Given the description of an element on the screen output the (x, y) to click on. 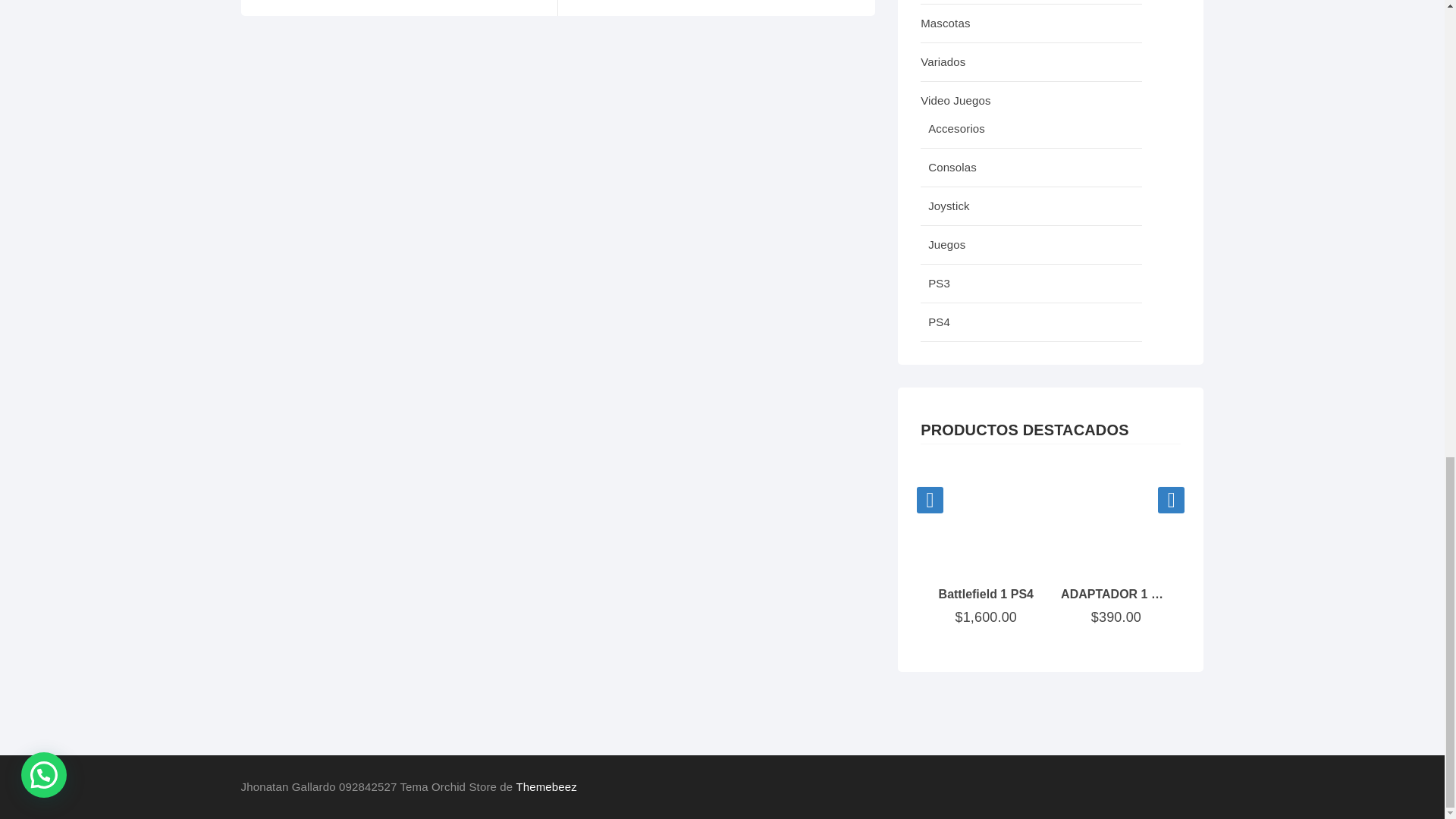
PS3 (1030, 283)
Consolas (1030, 167)
Video Juegos (1030, 95)
Variados (1030, 62)
PS4 (1030, 322)
Joystick (1030, 206)
Notebooks (1030, 2)
Mascotas (1030, 23)
Juegos (1030, 245)
Accesorios (1030, 128)
